Given the description of an element on the screen output the (x, y) to click on. 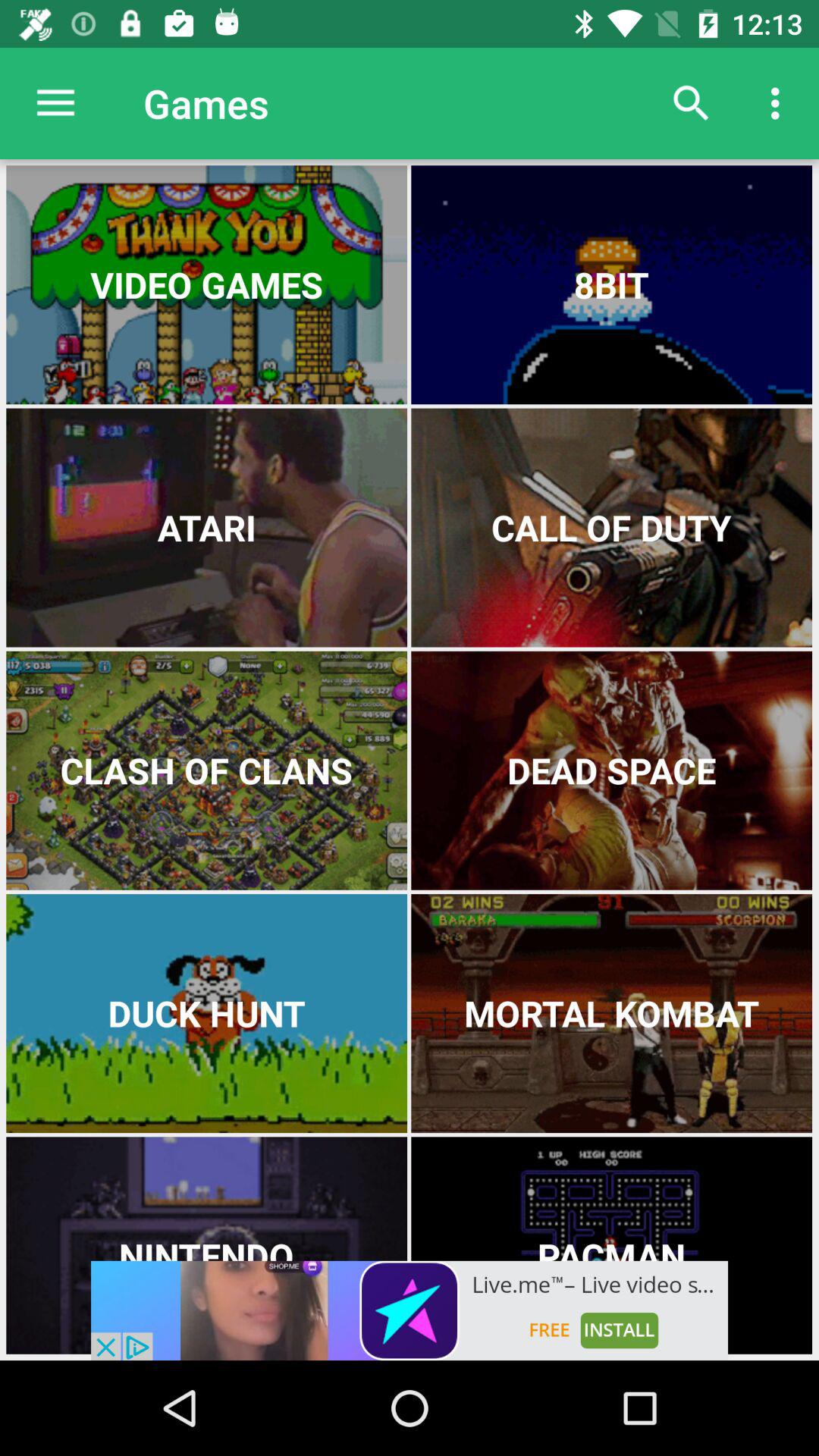
advertisement for app (409, 1310)
